Given the description of an element on the screen output the (x, y) to click on. 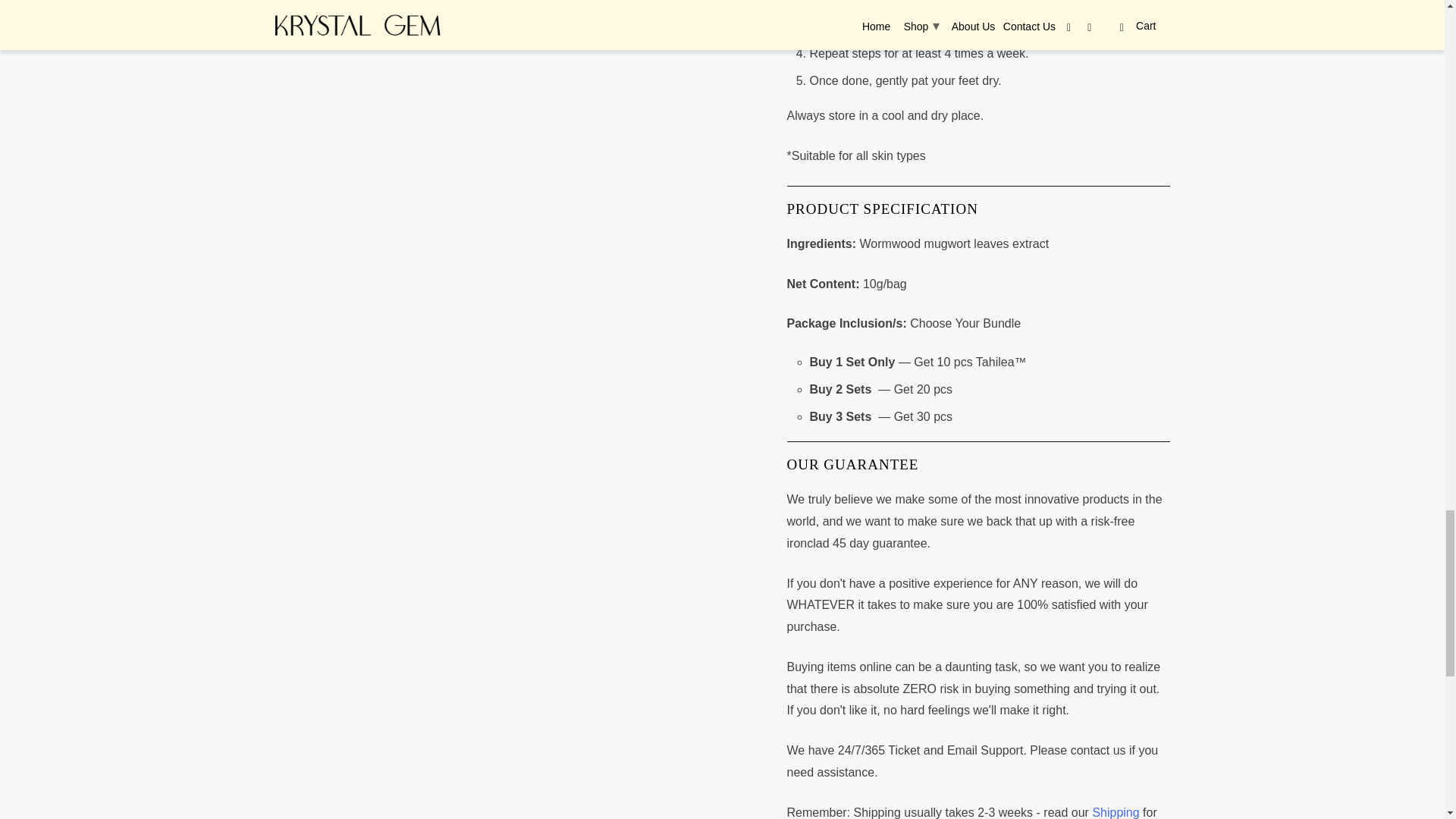
Shipping  (1117, 812)
